Given the description of an element on the screen output the (x, y) to click on. 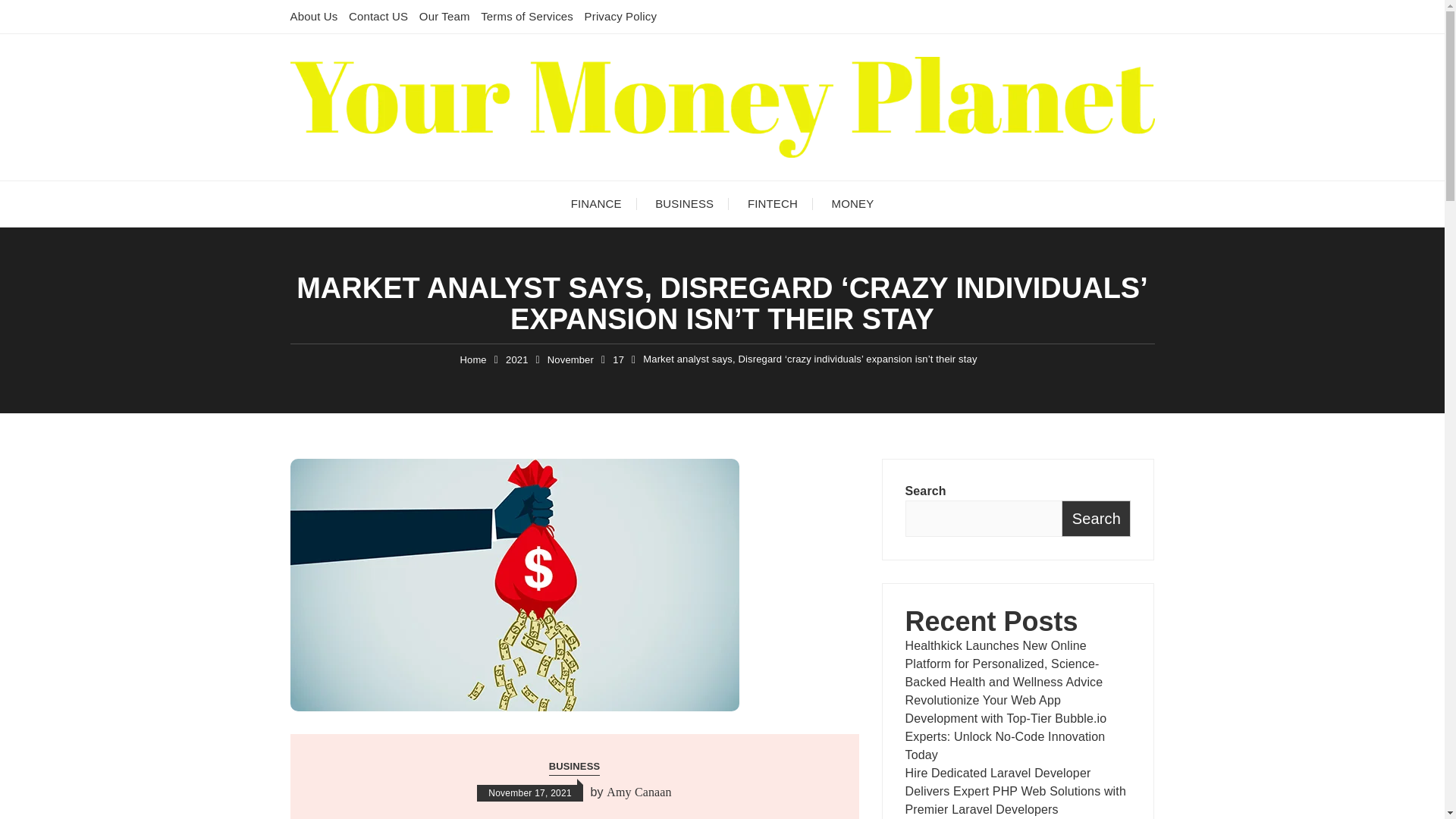
Amy Canaan (639, 791)
BUSINESS (684, 203)
Contact US (378, 15)
Home (473, 359)
BUSINESS (573, 767)
FINANCE (596, 203)
About Us (313, 15)
2021 (516, 359)
Our Team (444, 15)
